Given the description of an element on the screen output the (x, y) to click on. 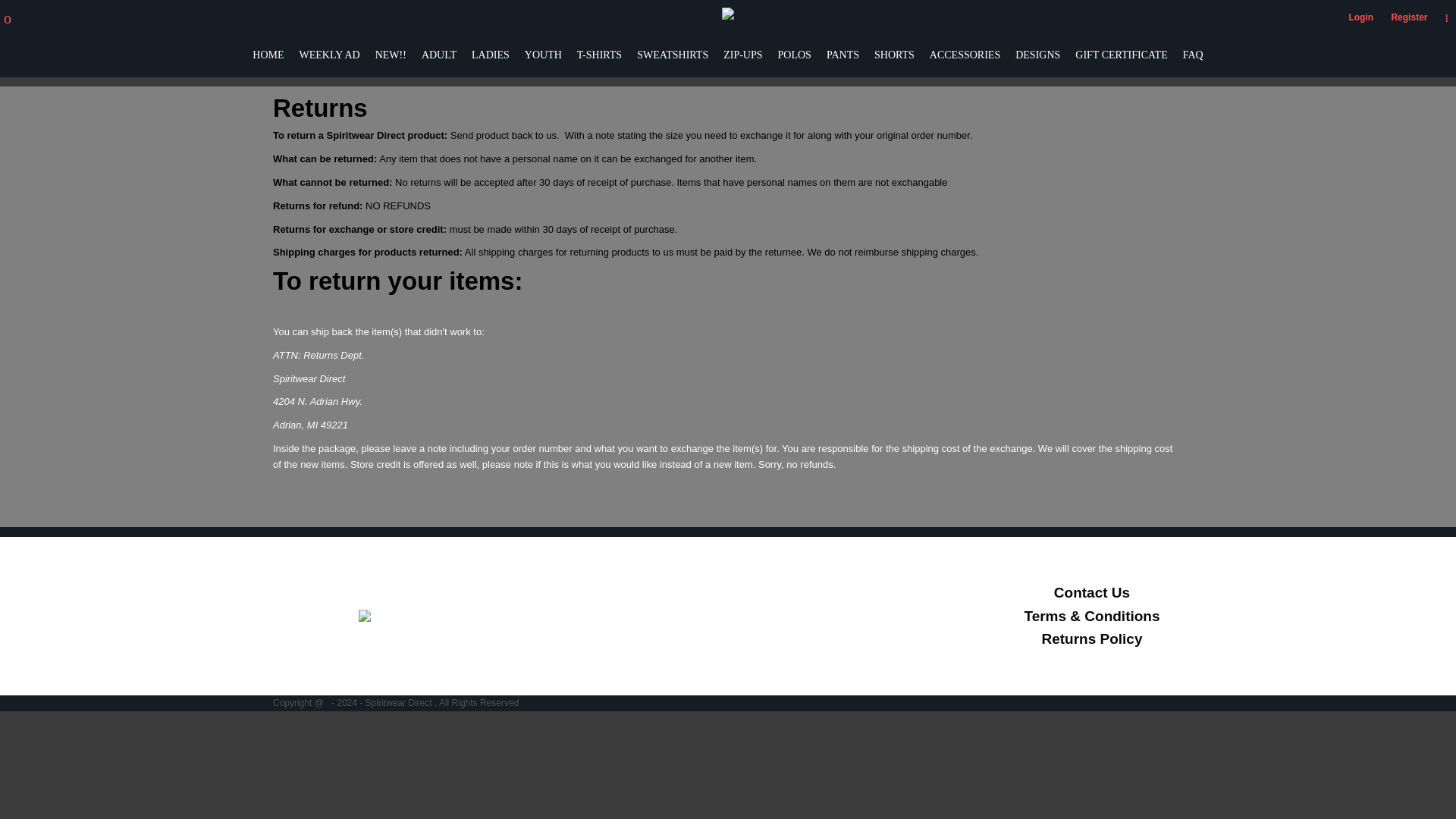
Contact Us (1091, 592)
ZIP-UPS (742, 53)
ACCESSORIES (965, 53)
Login (1360, 17)
LADIES (490, 53)
Register (1408, 17)
FAQ (1193, 53)
Returns Policy (1091, 638)
ADULT (439, 53)
PANTS (843, 53)
POLOS (793, 53)
YOUTH (543, 53)
SWEATSHIRTS (672, 53)
GIFT CERTIFICATE (1121, 53)
SHORTS (894, 53)
